Given the description of an element on the screen output the (x, y) to click on. 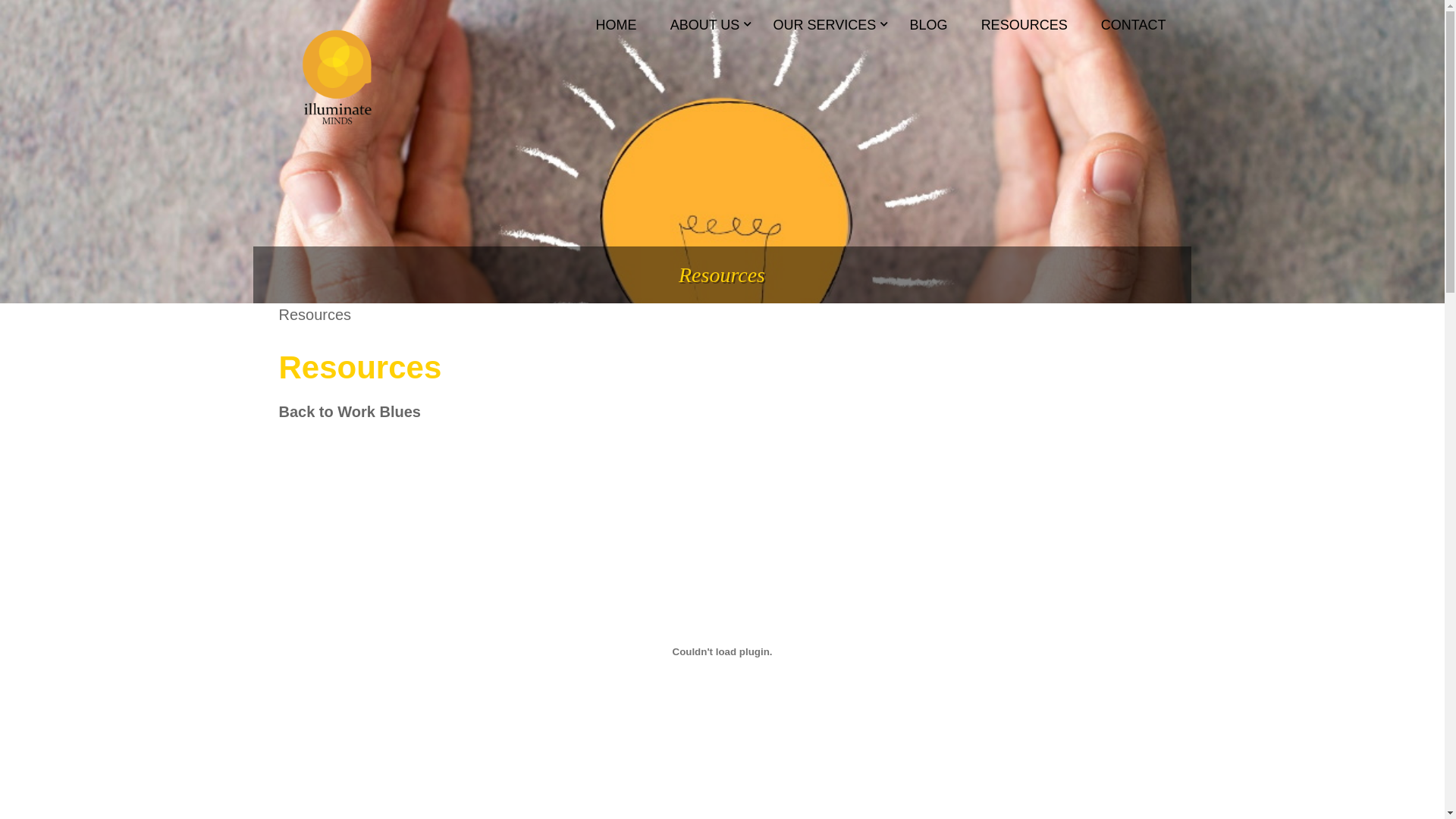
OUR SERVICES Element type: text (824, 31)
RESOURCES Element type: text (1024, 31)
CONTACT Element type: text (1125, 31)
BLOG Element type: text (928, 31)
HOME Element type: text (616, 31)
ABOUT US Element type: text (705, 31)
Illuminate Minds - Illuminate Minds Element type: hover (337, 84)
